Given the description of an element on the screen output the (x, y) to click on. 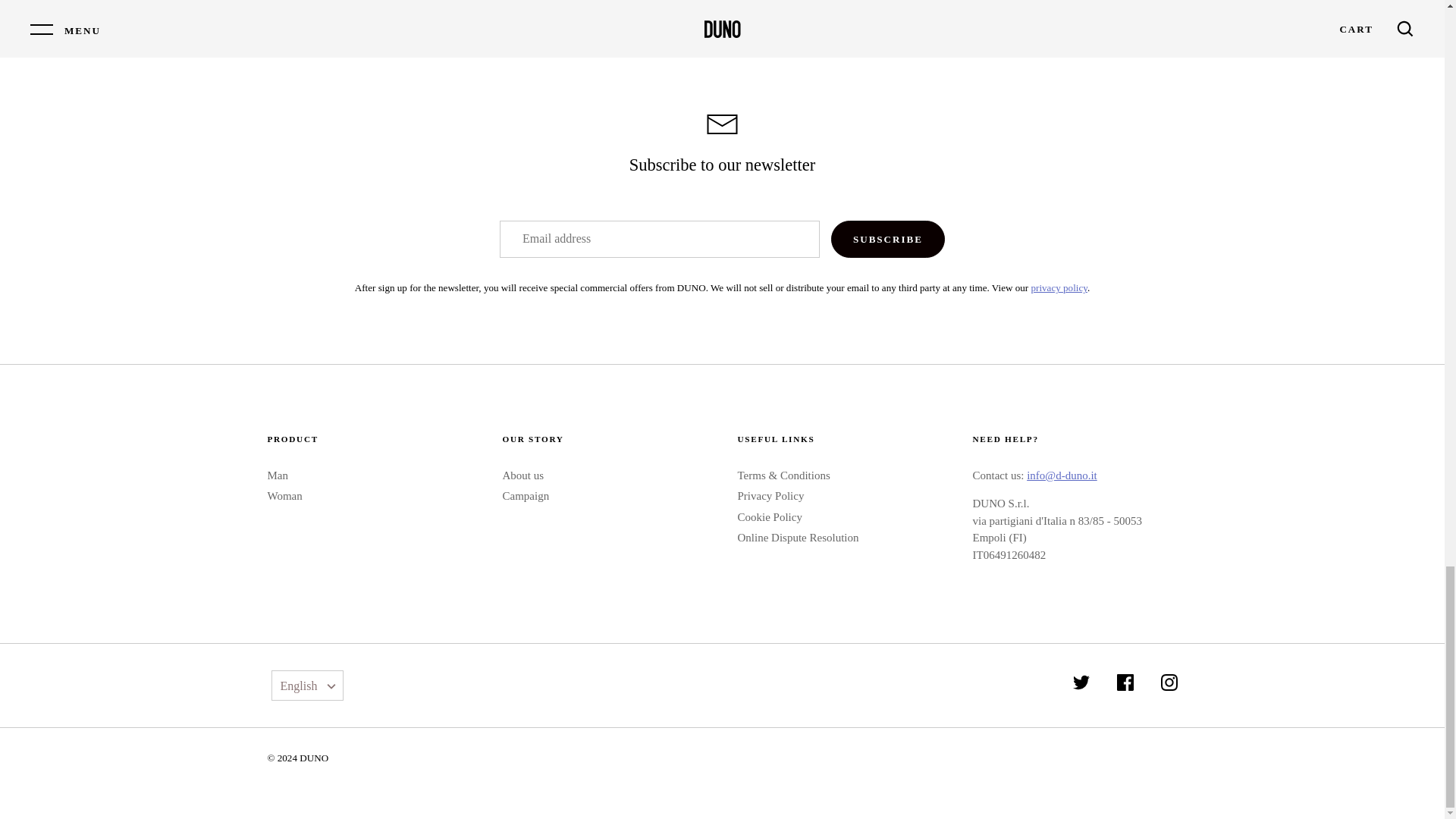
Email (722, 124)
Instagram (1168, 682)
Twitter (1081, 682)
Facebook (1125, 682)
Down (331, 686)
